Given the description of an element on the screen output the (x, y) to click on. 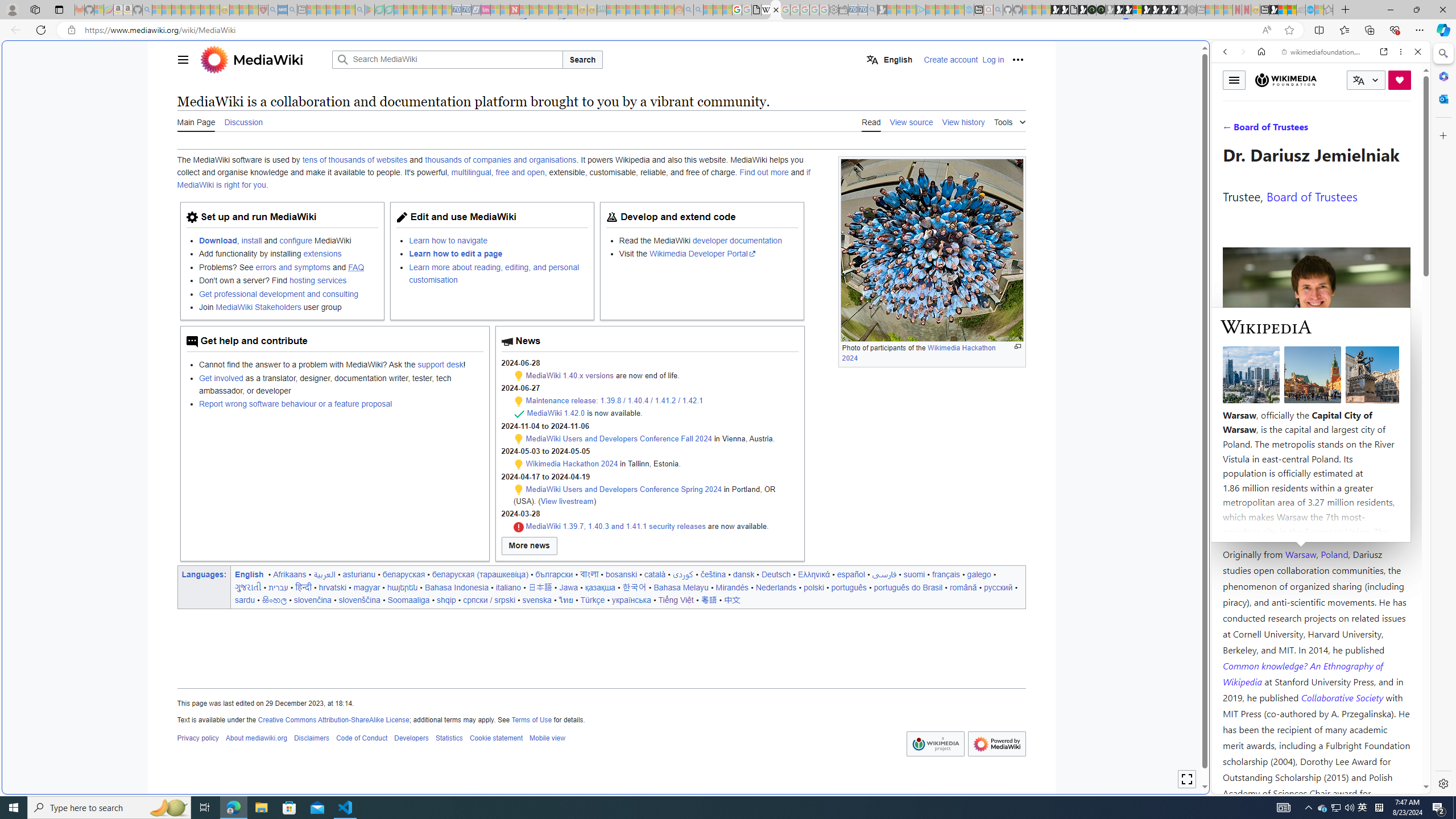
AutomationID: footer-poweredbyico (996, 744)
Soomaaliga (408, 599)
Disclaimers (311, 738)
Discussion (243, 121)
Add functionality by installing extensions (288, 253)
Languages: (204, 574)
